Given the description of an element on the screen output the (x, y) to click on. 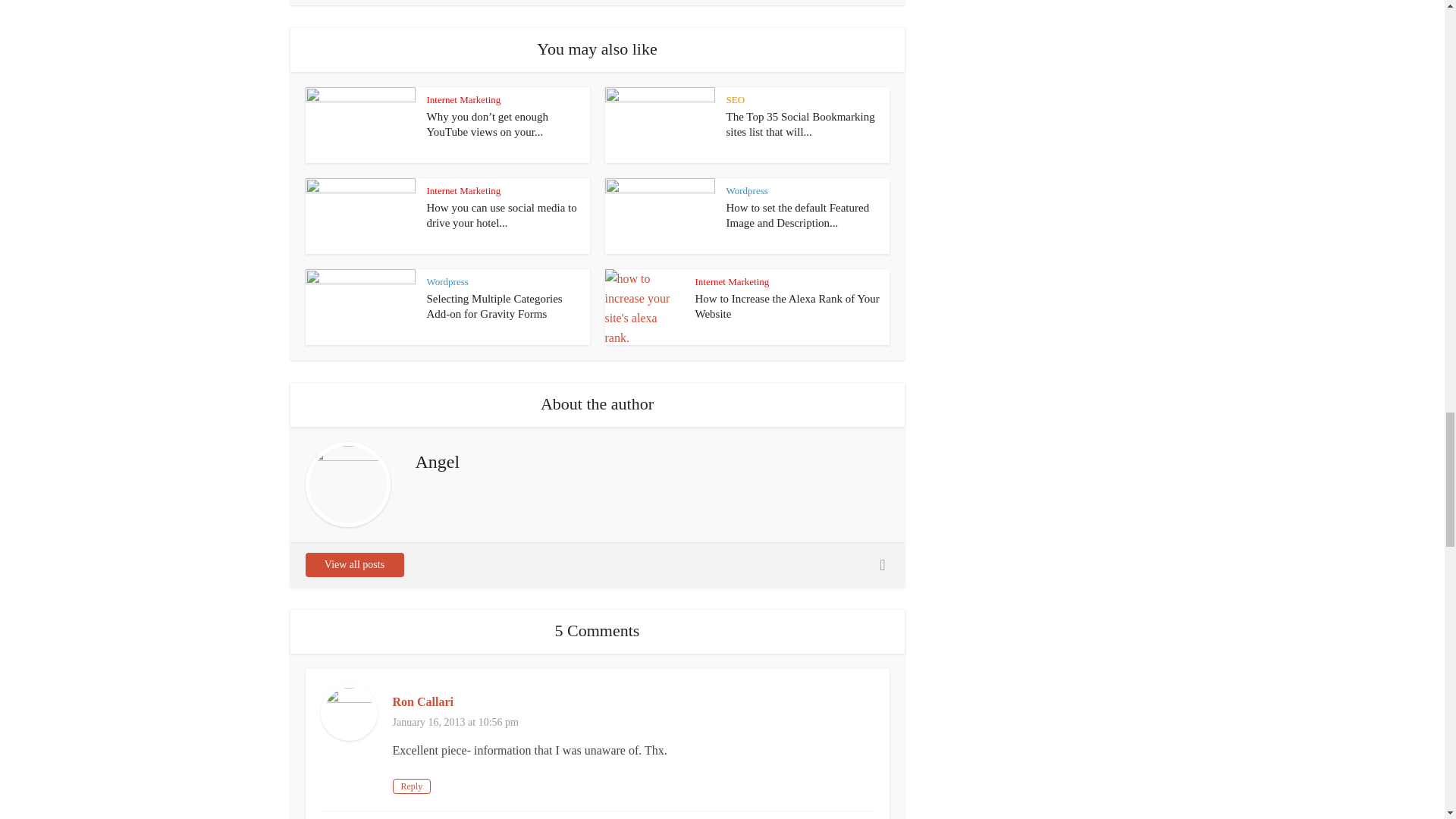
Internet Marketing (463, 99)
SEO (735, 99)
How you can use social media to drive your hotel marketing (501, 215)
The Top 35 Social Bookmarking sites list that will... (800, 124)
